Given the description of an element on the screen output the (x, y) to click on. 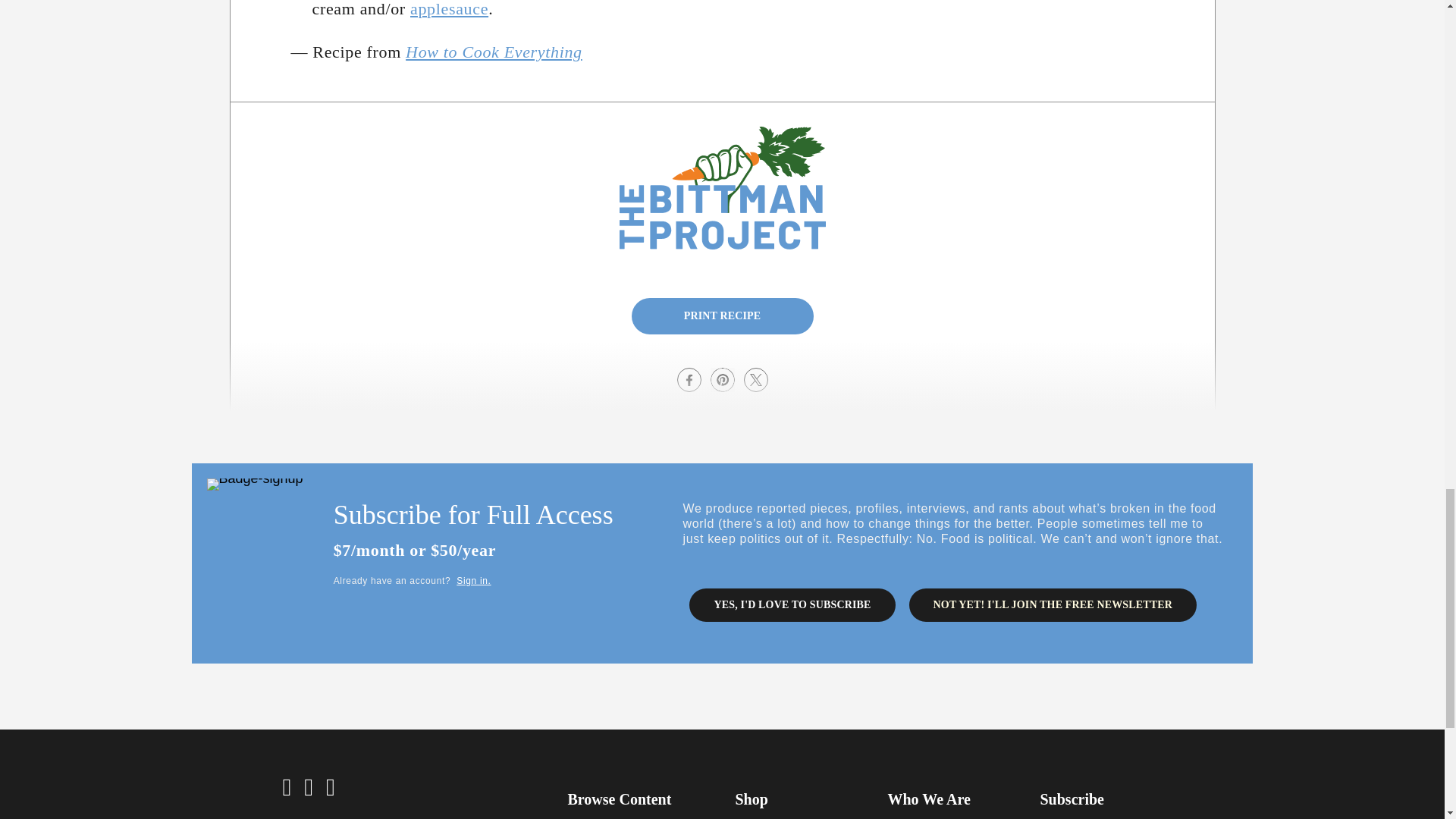
Badge-signup (254, 484)
